Given the description of an element on the screen output the (x, y) to click on. 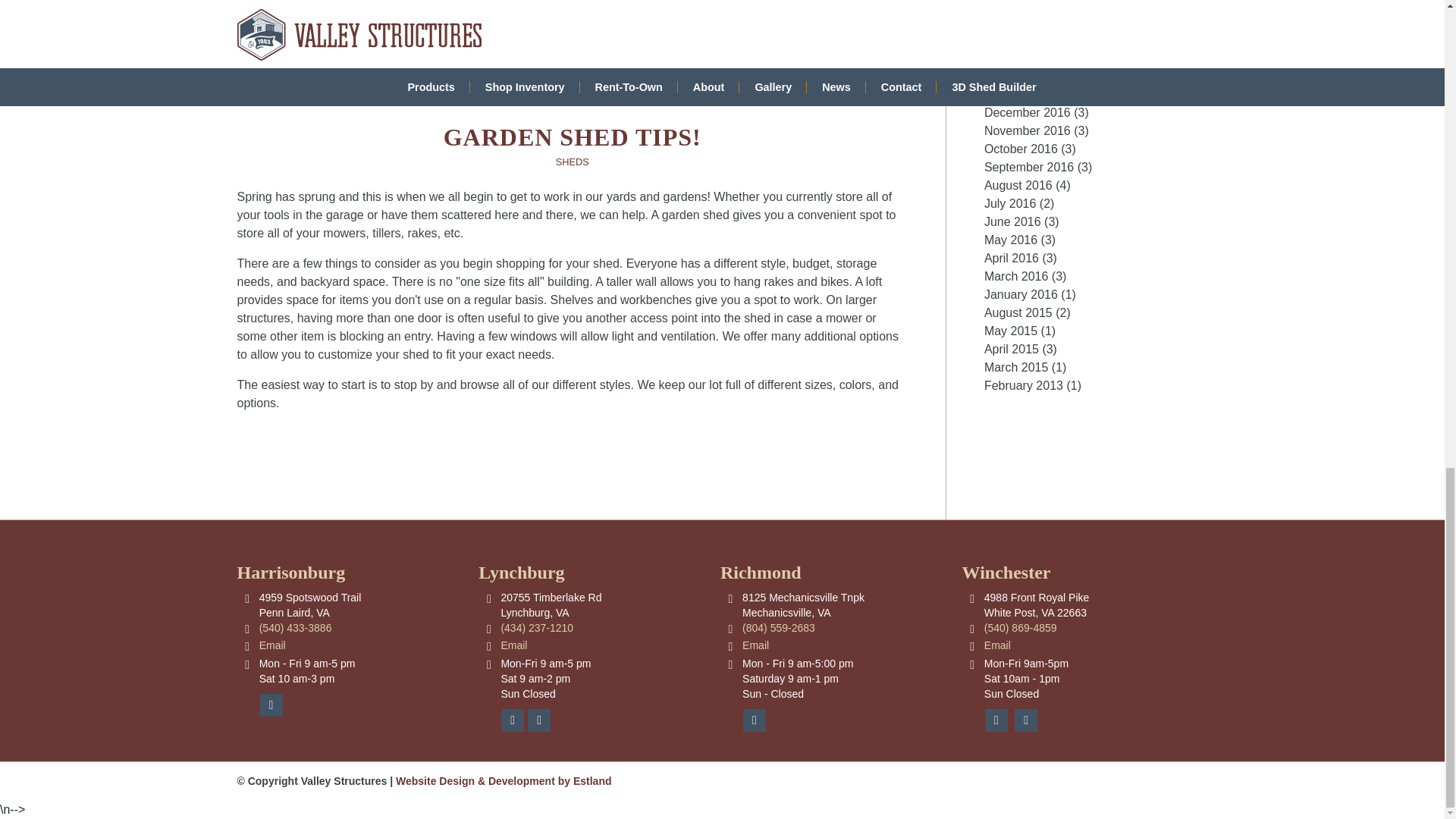
Facebook (270, 704)
Email Harrisonburg Location (272, 645)
Facebook (512, 720)
Facebook (753, 720)
Email Richmond Location (755, 645)
SHEDS (572, 161)
Permanent Link: Garden Shed Tips! (572, 136)
Email Winchester Location (997, 645)
Email Lynchburg Location (513, 645)
Facebook (996, 720)
